Given the description of an element on the screen output the (x, y) to click on. 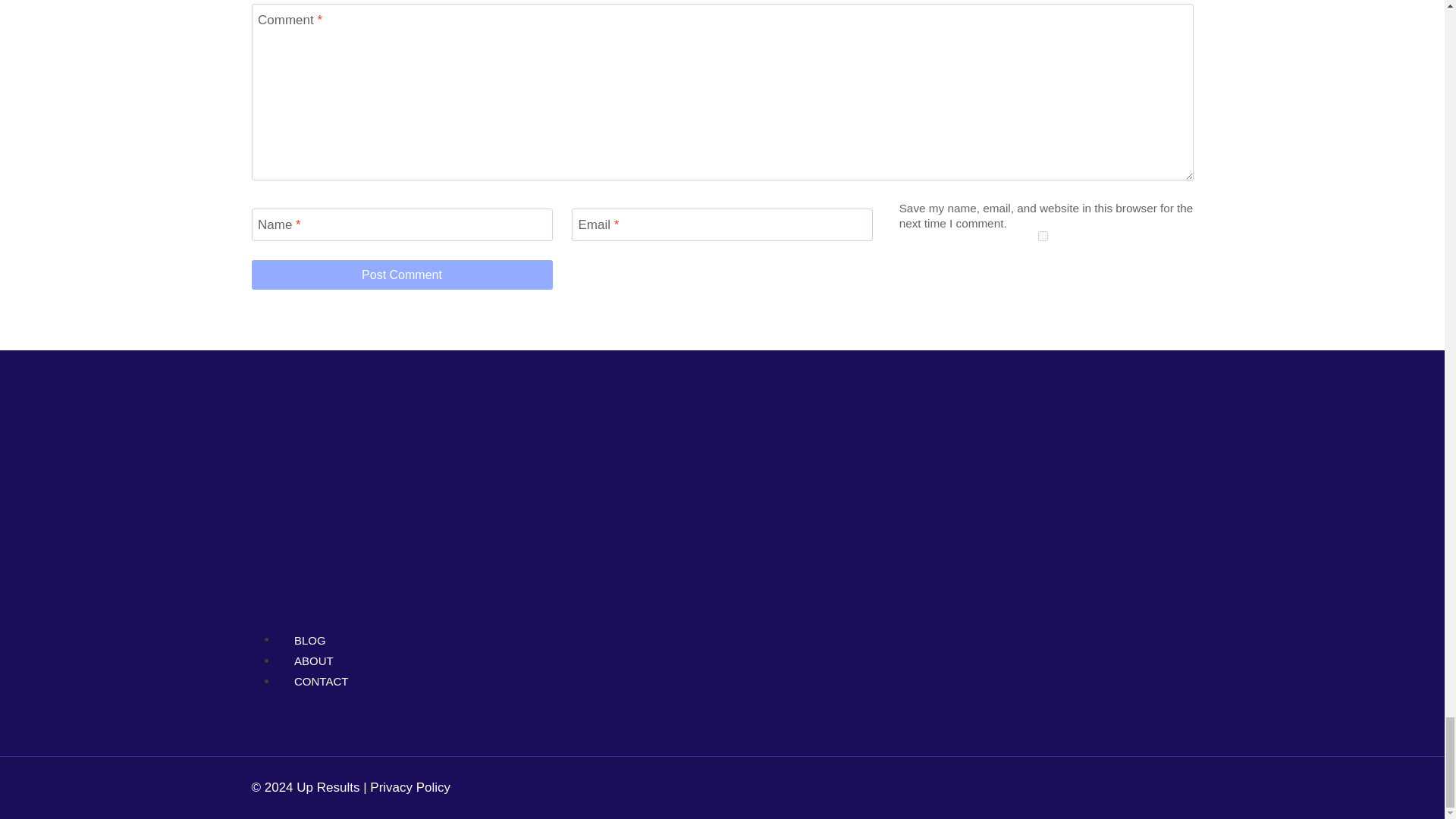
Post Comment (402, 274)
yes (1041, 235)
